Given the description of an element on the screen output the (x, y) to click on. 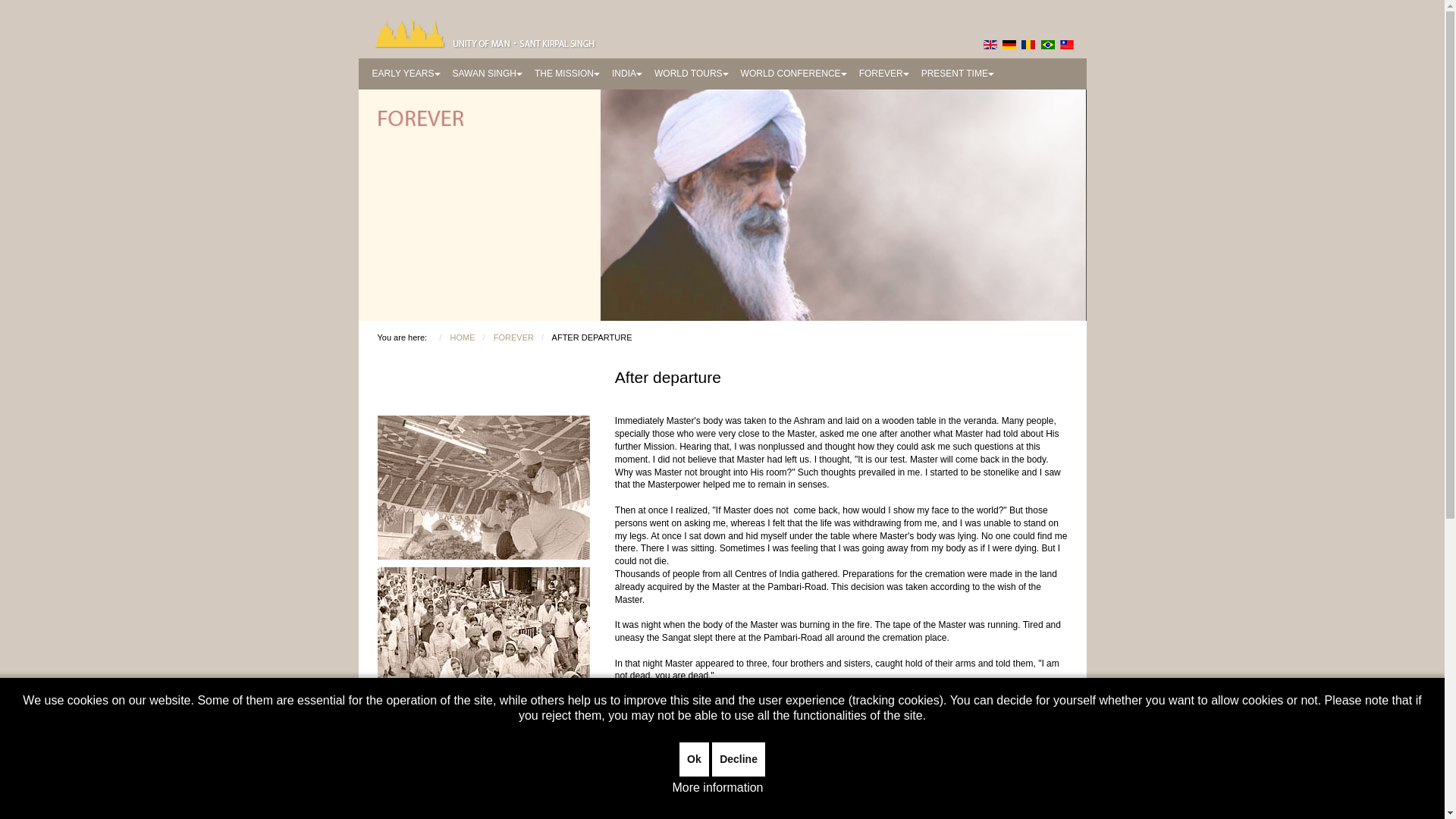
EARLY YEARS (405, 73)
INDIA (626, 73)
Sant Kirpal Singh - His life and His mission (575, 24)
SAWAN SINGH (487, 73)
THE MISSION (566, 73)
